Given the description of an element on the screen output the (x, y) to click on. 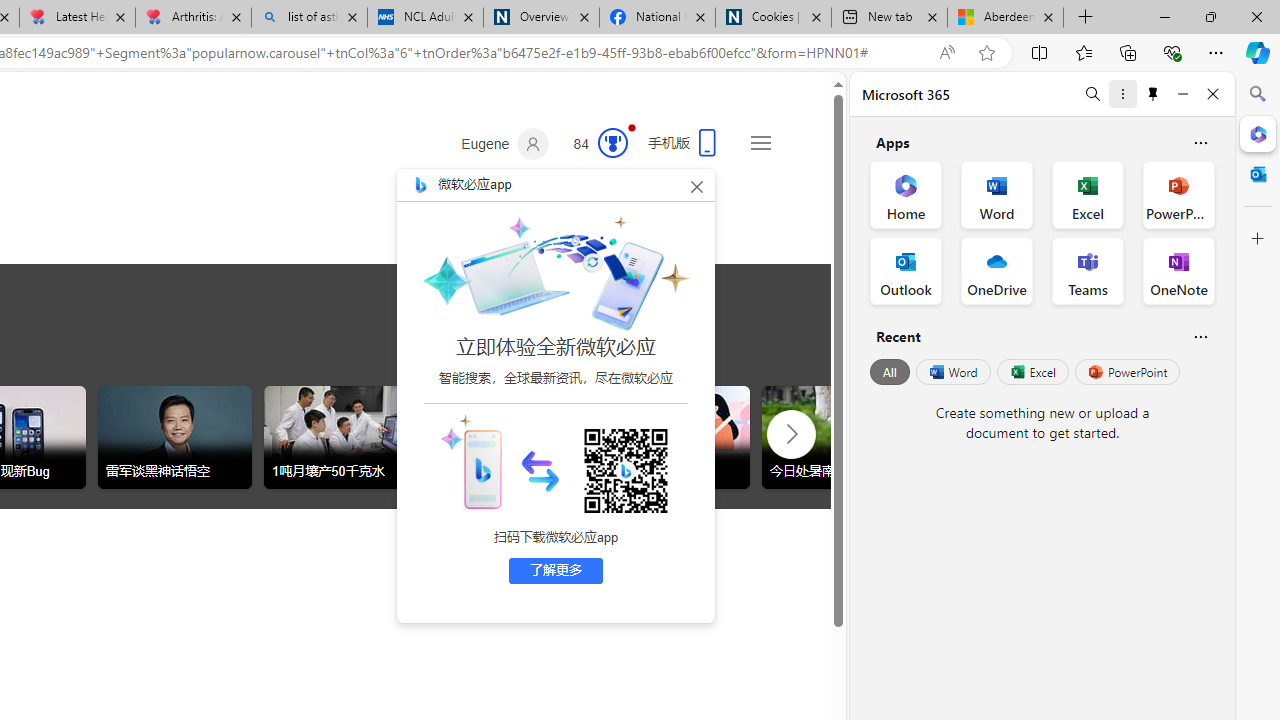
Is this helpful? (1200, 336)
Eugene (505, 143)
Home Office App (906, 194)
OneDrive Office App (996, 270)
PowerPoint (1127, 372)
Word Office App (996, 194)
